Given the description of an element on the screen output the (x, y) to click on. 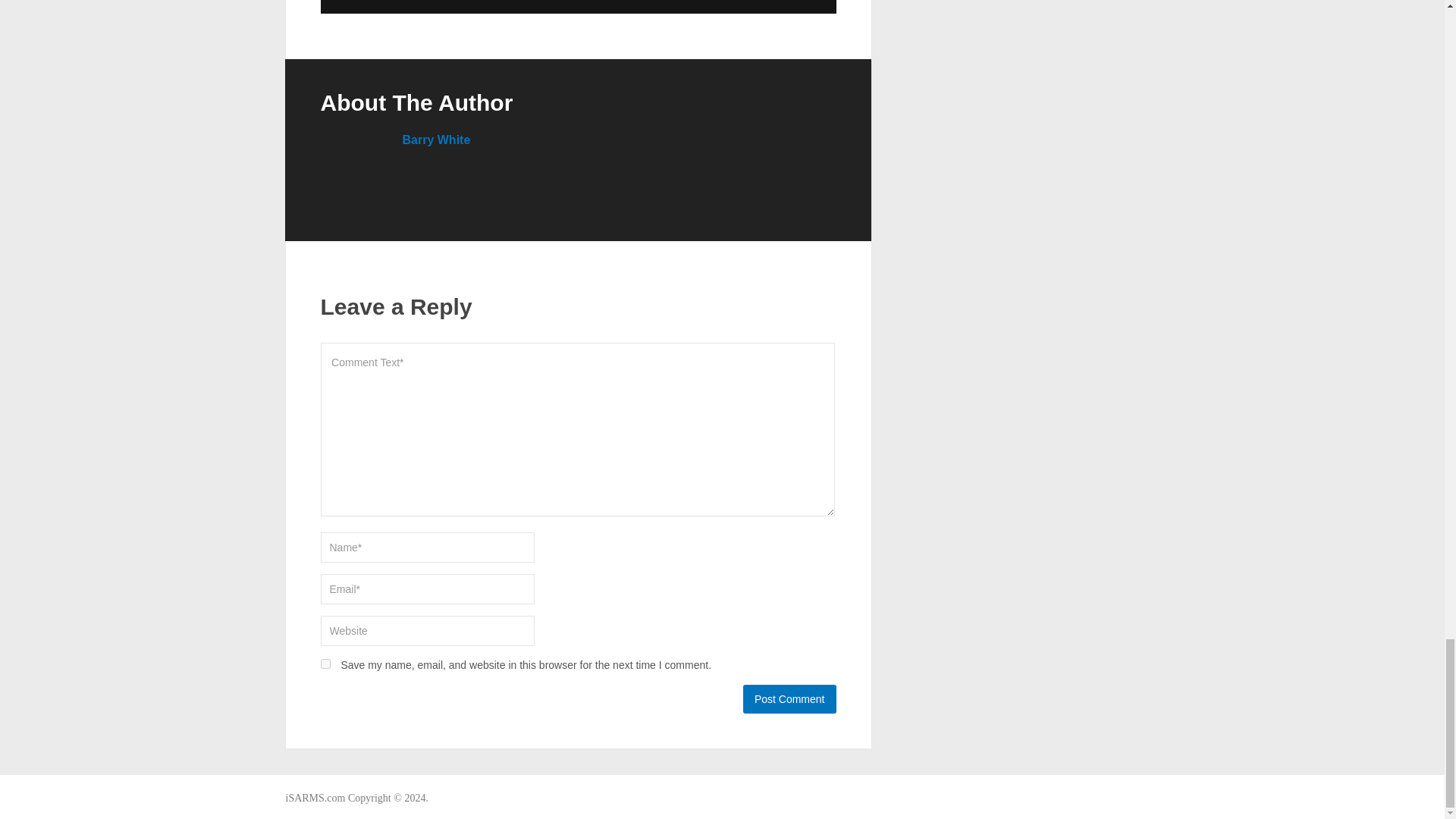
yes (325, 664)
Post Comment (788, 698)
